Given the description of an element on the screen output the (x, y) to click on. 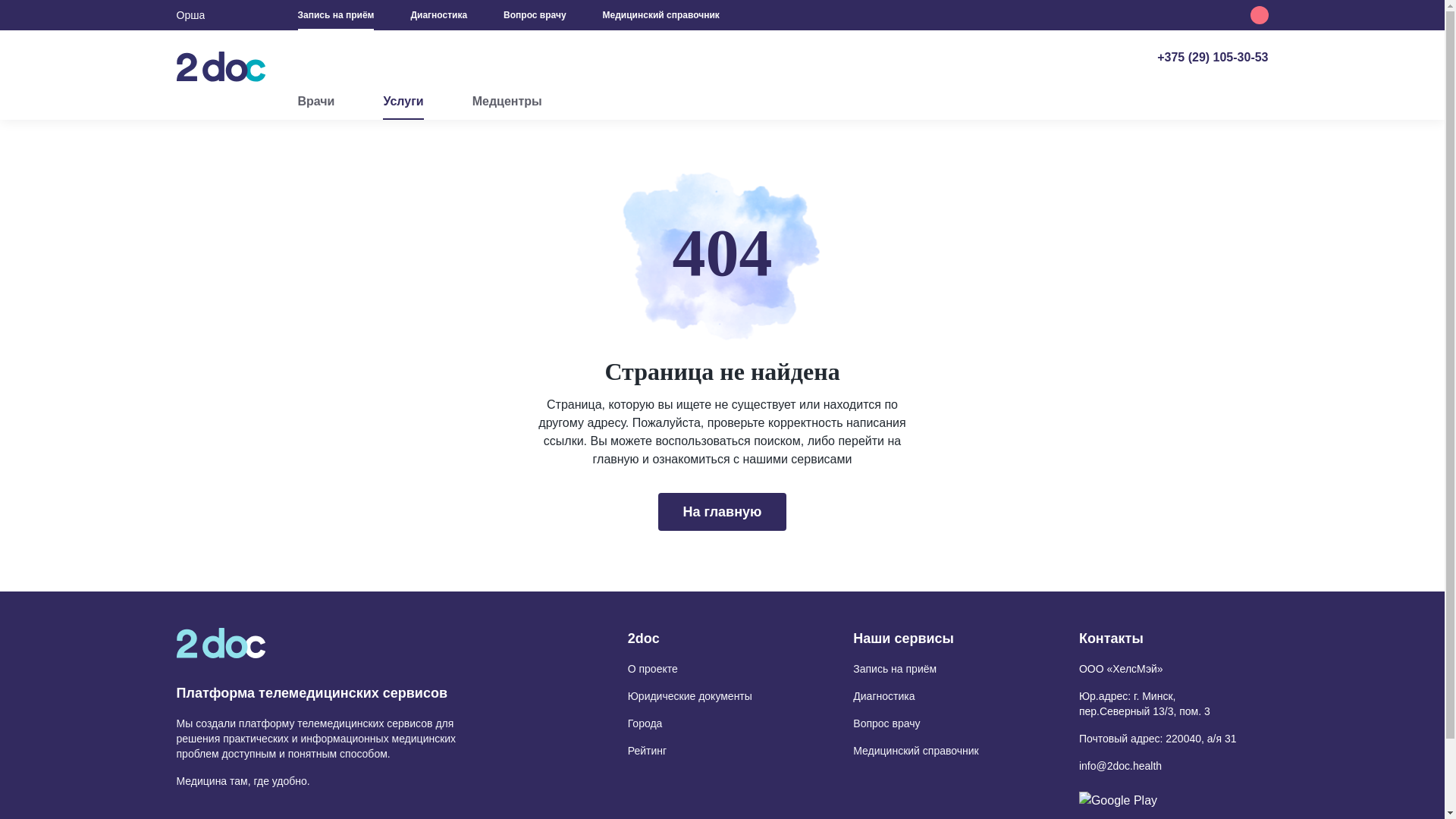
+375 (29) 105-30-53 Element type: text (1212, 56)
info@2doc.health Element type: text (1120, 765)
